Given the description of an element on the screen output the (x, y) to click on. 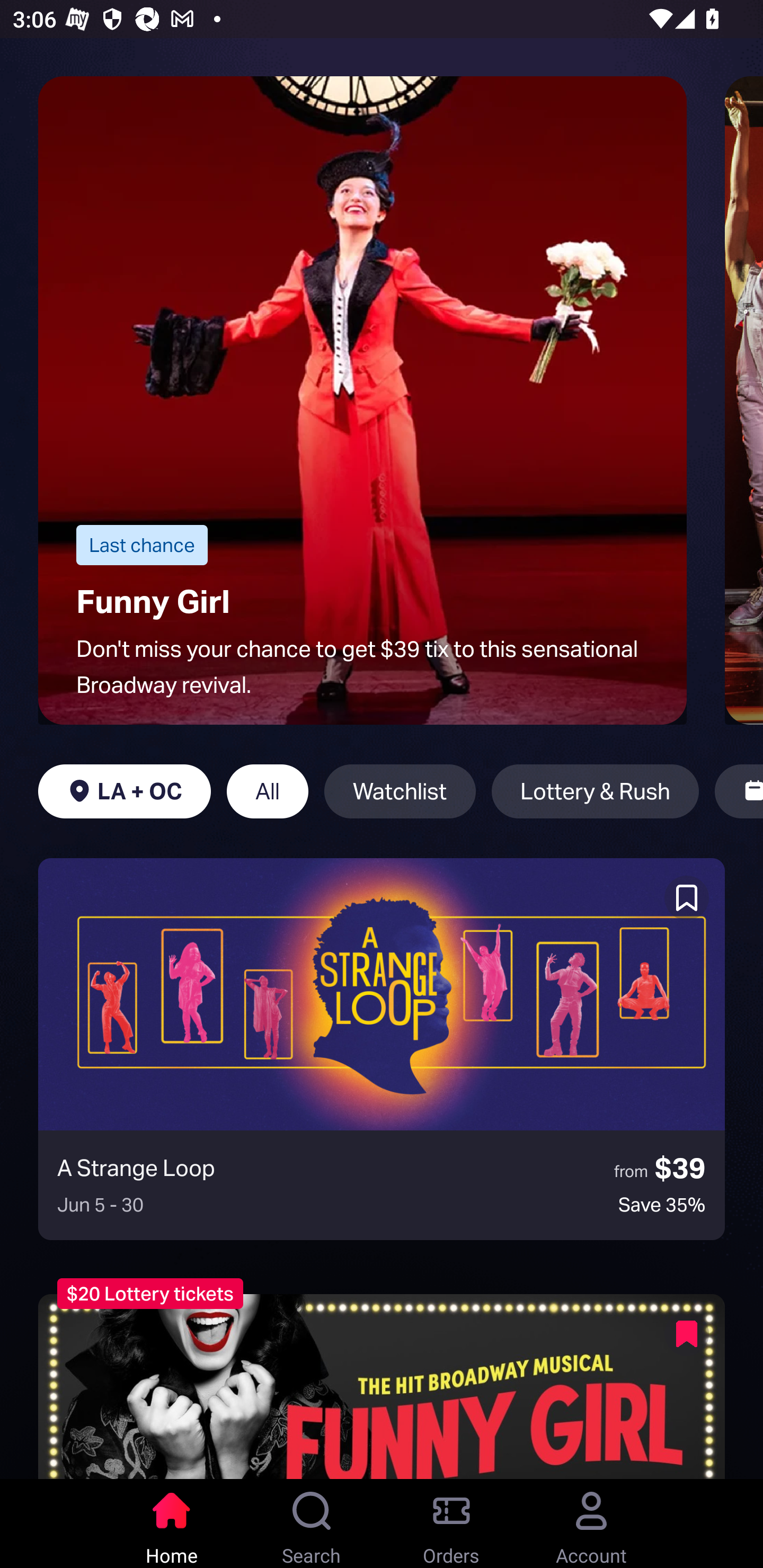
LA + OC (124, 791)
All (267, 791)
Watchlist (400, 791)
Lottery & Rush (594, 791)
A Strange Loop from $39 Jun 5 - 30 Save 35% (381, 1048)
Search (311, 1523)
Orders (451, 1523)
Account (591, 1523)
